Given the description of an element on the screen output the (x, y) to click on. 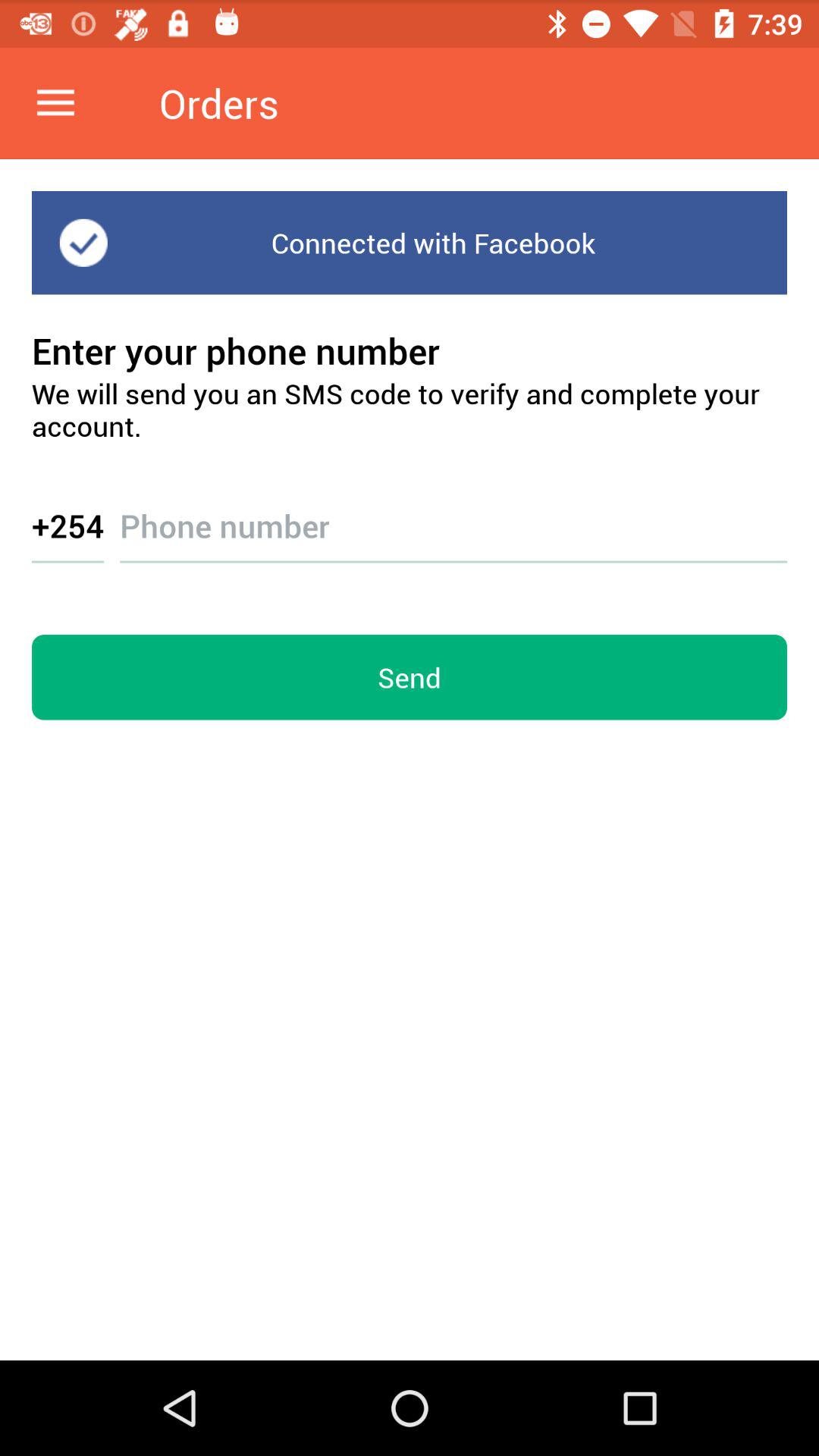
scroll to +254 icon (67, 525)
